Given the description of an element on the screen output the (x, y) to click on. 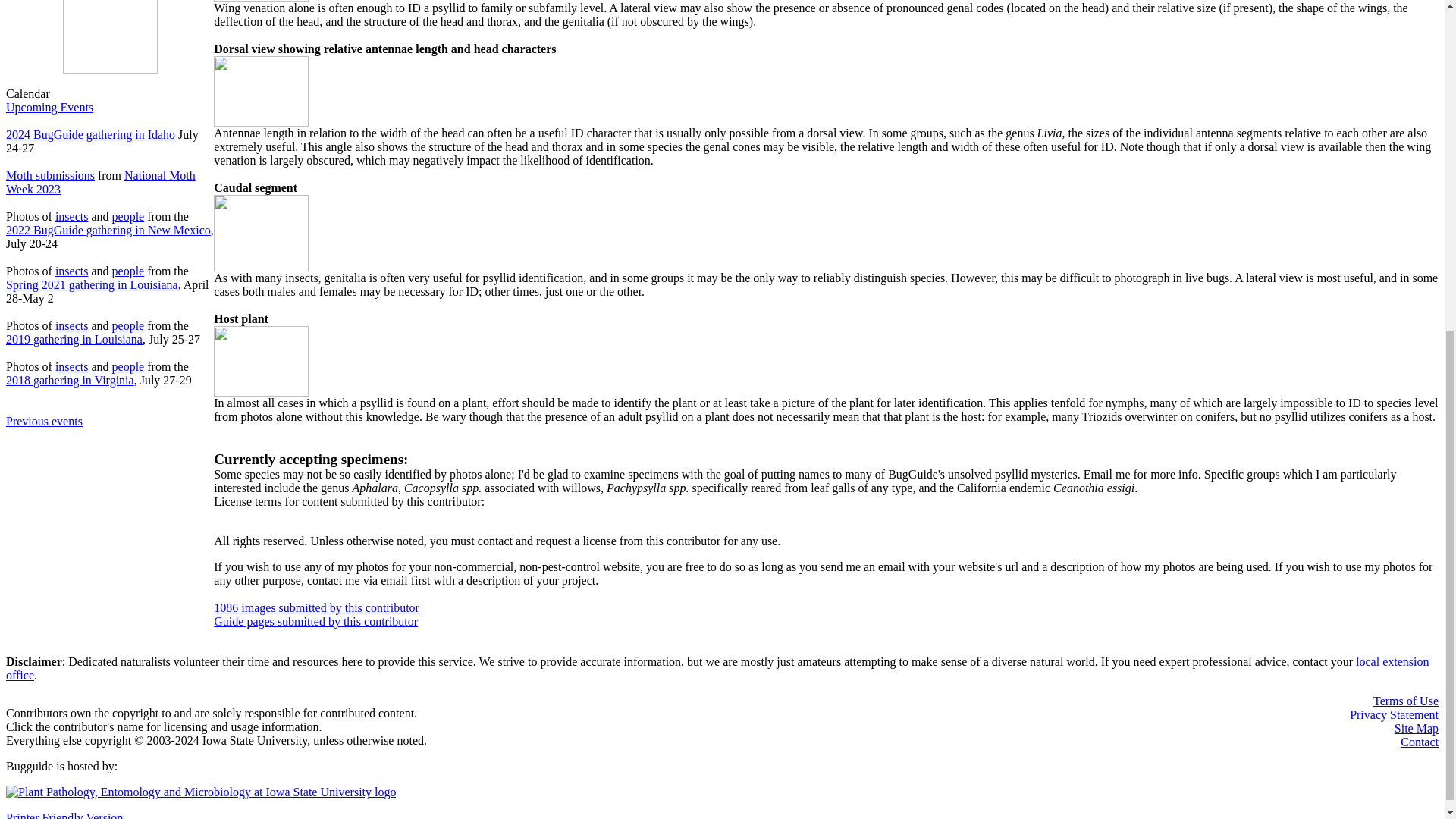
2018 gathering in Virginia (69, 379)
people (128, 215)
people (128, 366)
insects (71, 325)
2022 BugGuide gathering in New Mexico (108, 229)
insects (71, 366)
Upcoming Events (49, 106)
Spring 2021 gathering in Louisiana (91, 284)
2024 BugGuide gathering in Idaho (89, 133)
insects (71, 215)
insects (71, 270)
Moth submissions (49, 174)
Previous events (43, 427)
people (128, 325)
National Moth Week 2023 (100, 181)
